Given the description of an element on the screen output the (x, y) to click on. 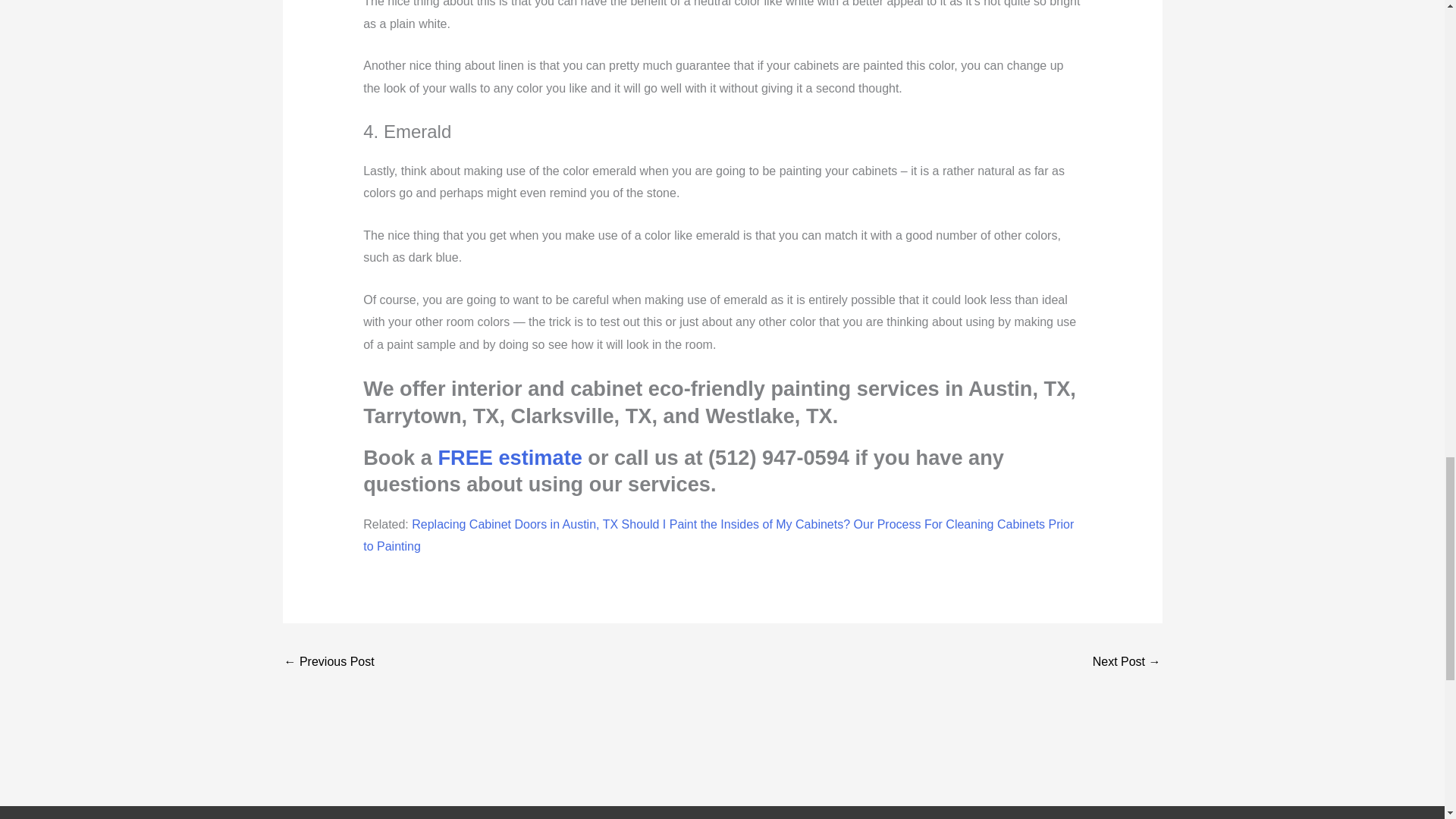
Should I Paint the Insides of My Cabinets? (735, 523)
FREE estimate (509, 457)
Our Process For Cleaning Cabinets Prior to Painting (718, 535)
Replacing Cabinet Doors in Austin, TX (514, 523)
